Given the description of an element on the screen output the (x, y) to click on. 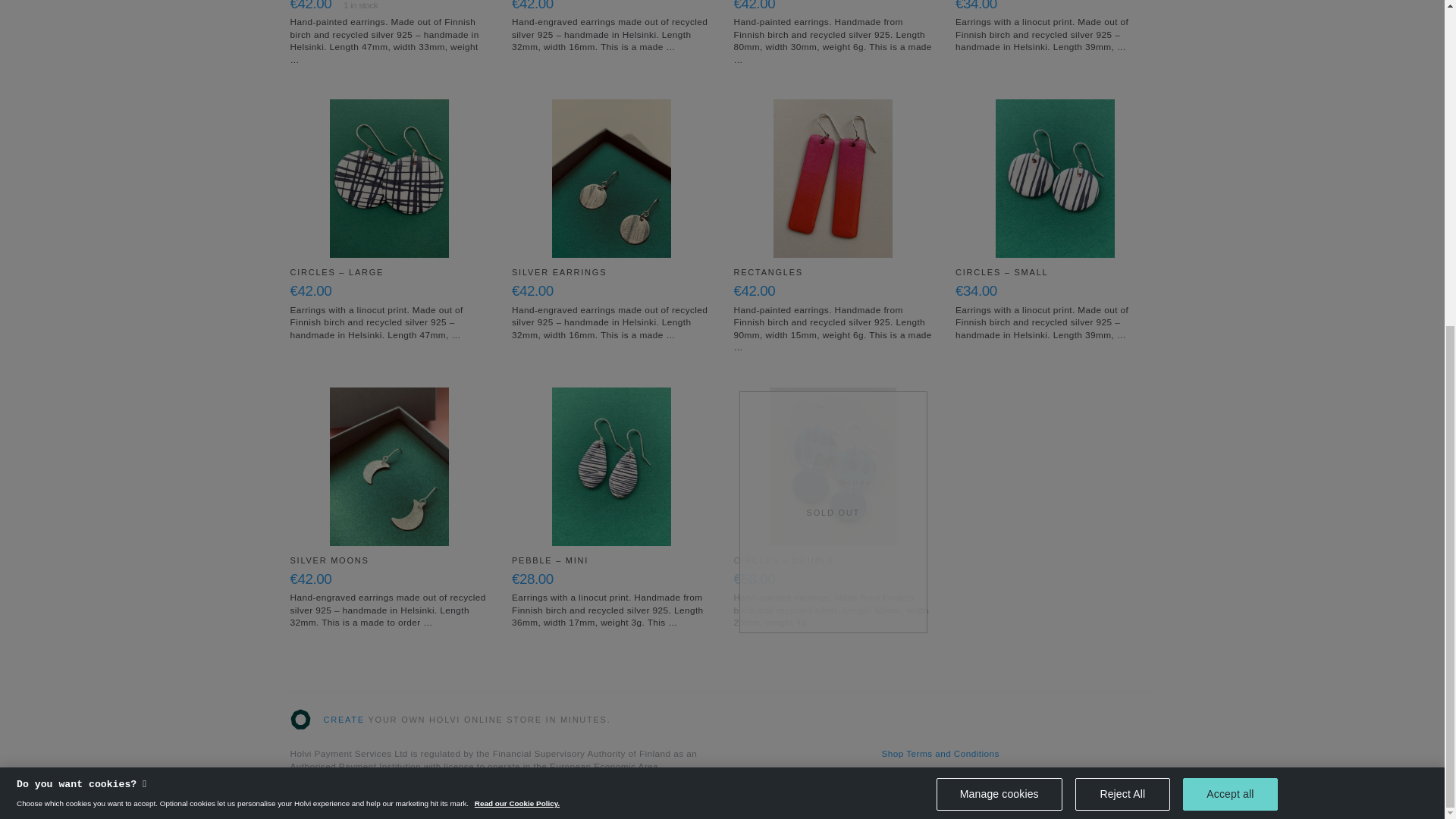
Shop Terms and Conditions (939, 753)
Accept all (1230, 259)
CREATE YOUR OWN HOLVI ONLINE STORE IN MINUTES. (449, 719)
Manage cookies (999, 259)
Read our Cookie Policy. (516, 268)
Reject All (1122, 259)
